Given the description of an element on the screen output the (x, y) to click on. 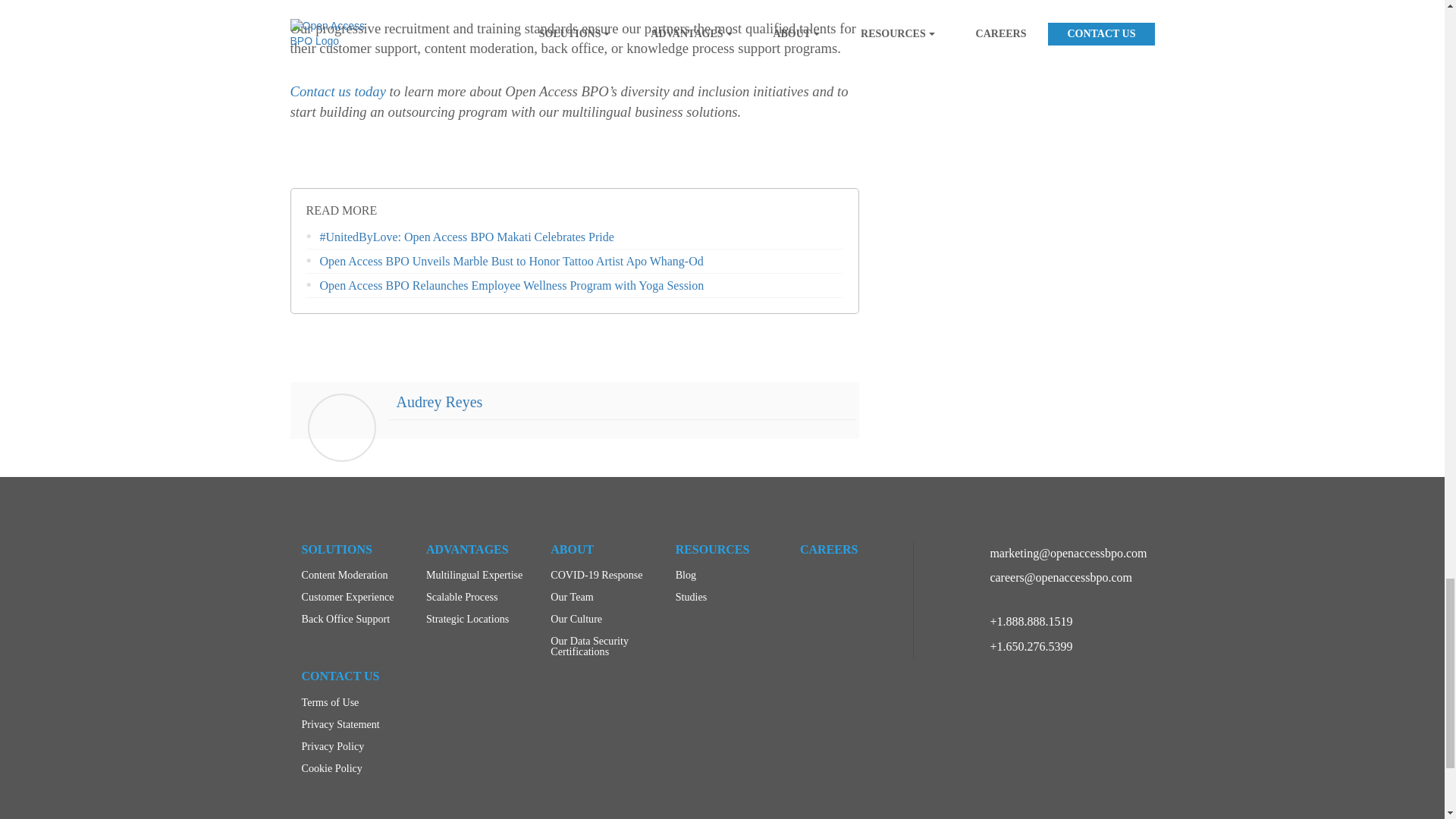
Audrey Reyes (438, 401)
Contact us today (337, 91)
